Given the description of an element on the screen output the (x, y) to click on. 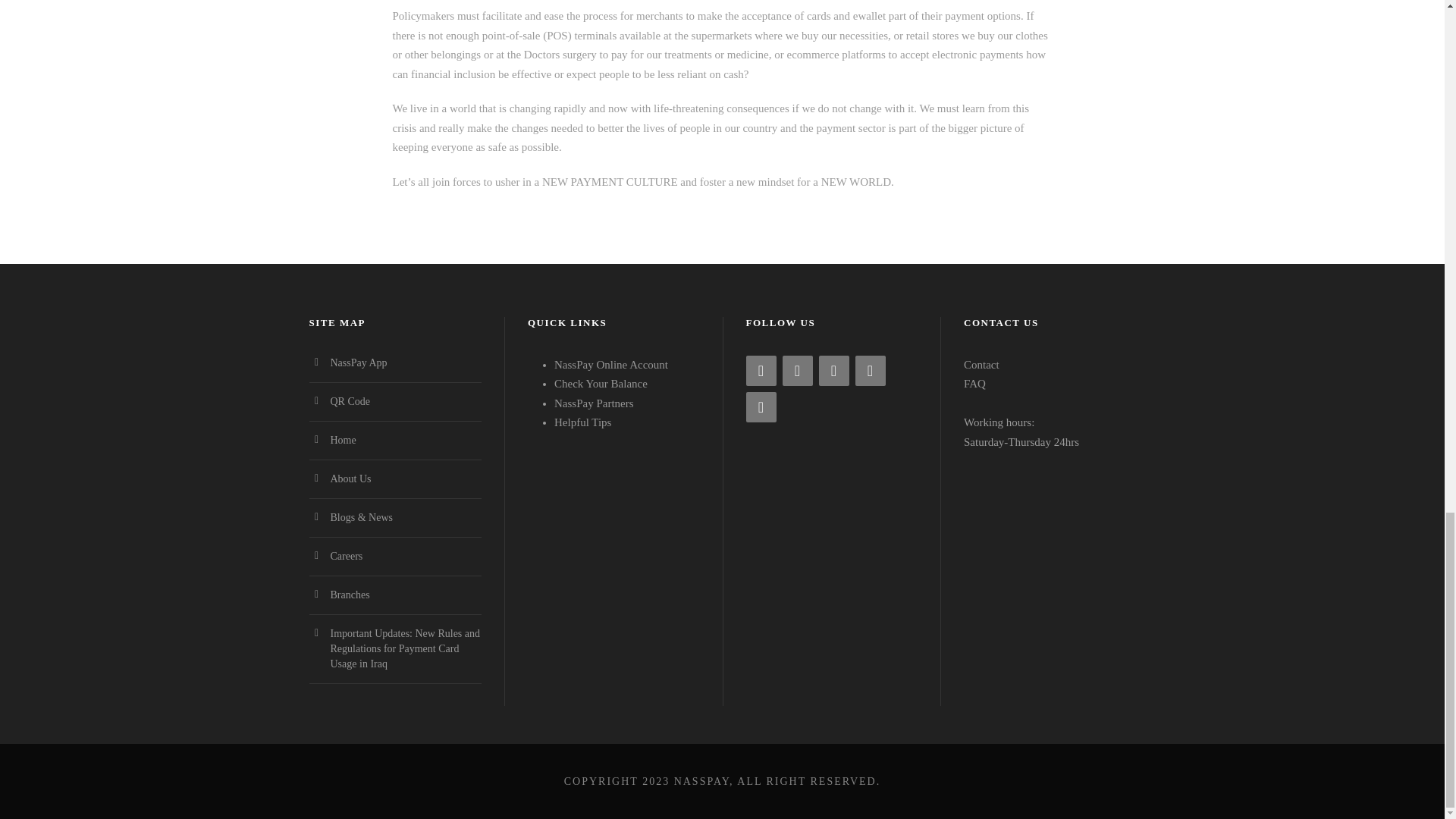
Helpful Tips (582, 422)
Branches (349, 594)
Home (343, 439)
NassPay Partners (593, 403)
QR Code (350, 401)
Careers (346, 555)
About Us (350, 478)
Check Your Balance (600, 383)
NassPay App (358, 362)
NassPay Online Account (611, 364)
